Given the description of an element on the screen output the (x, y) to click on. 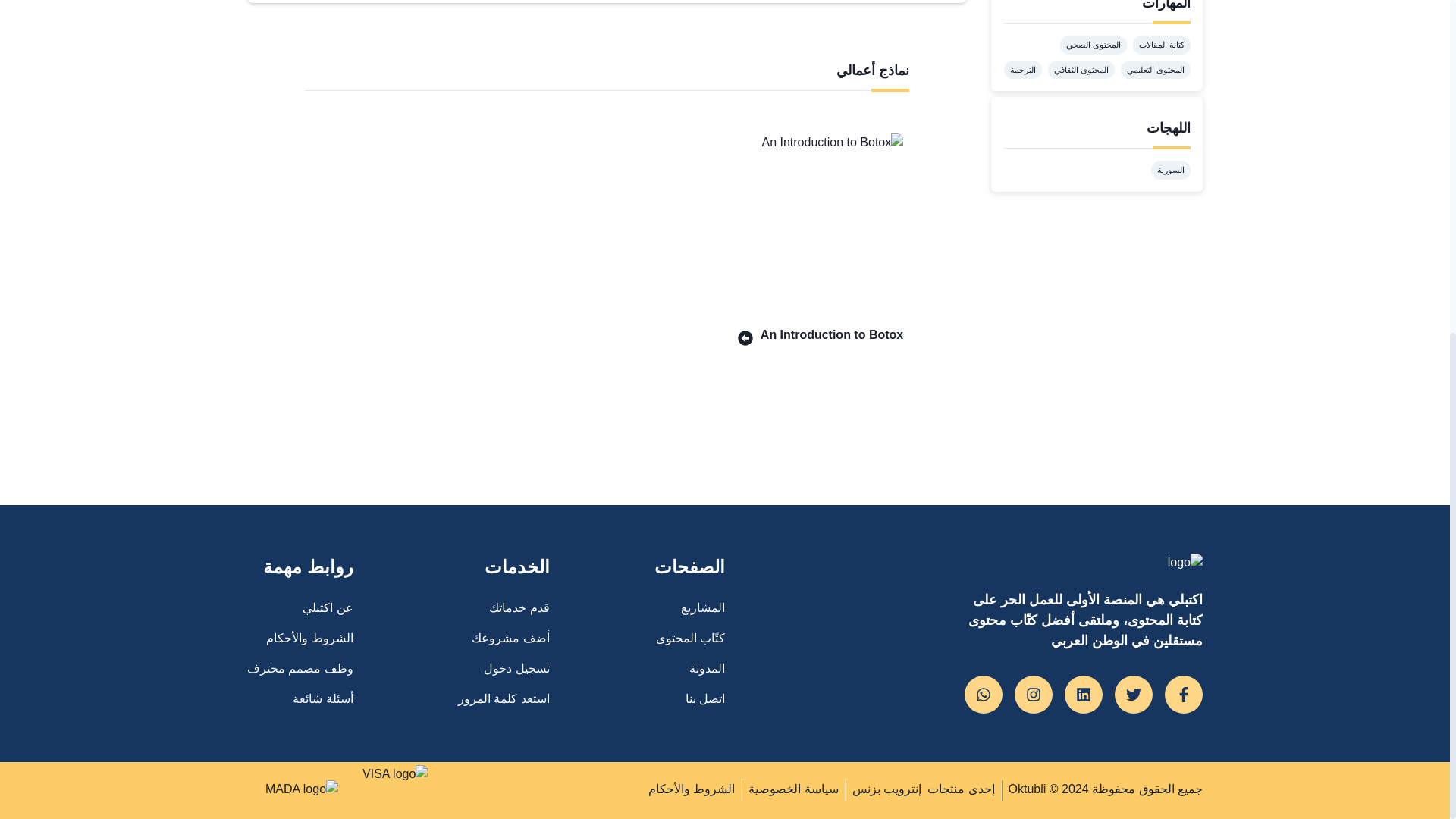
An Introduction to Botox (816, 220)
An Introduction to Botox (816, 334)
